Given the description of an element on the screen output the (x, y) to click on. 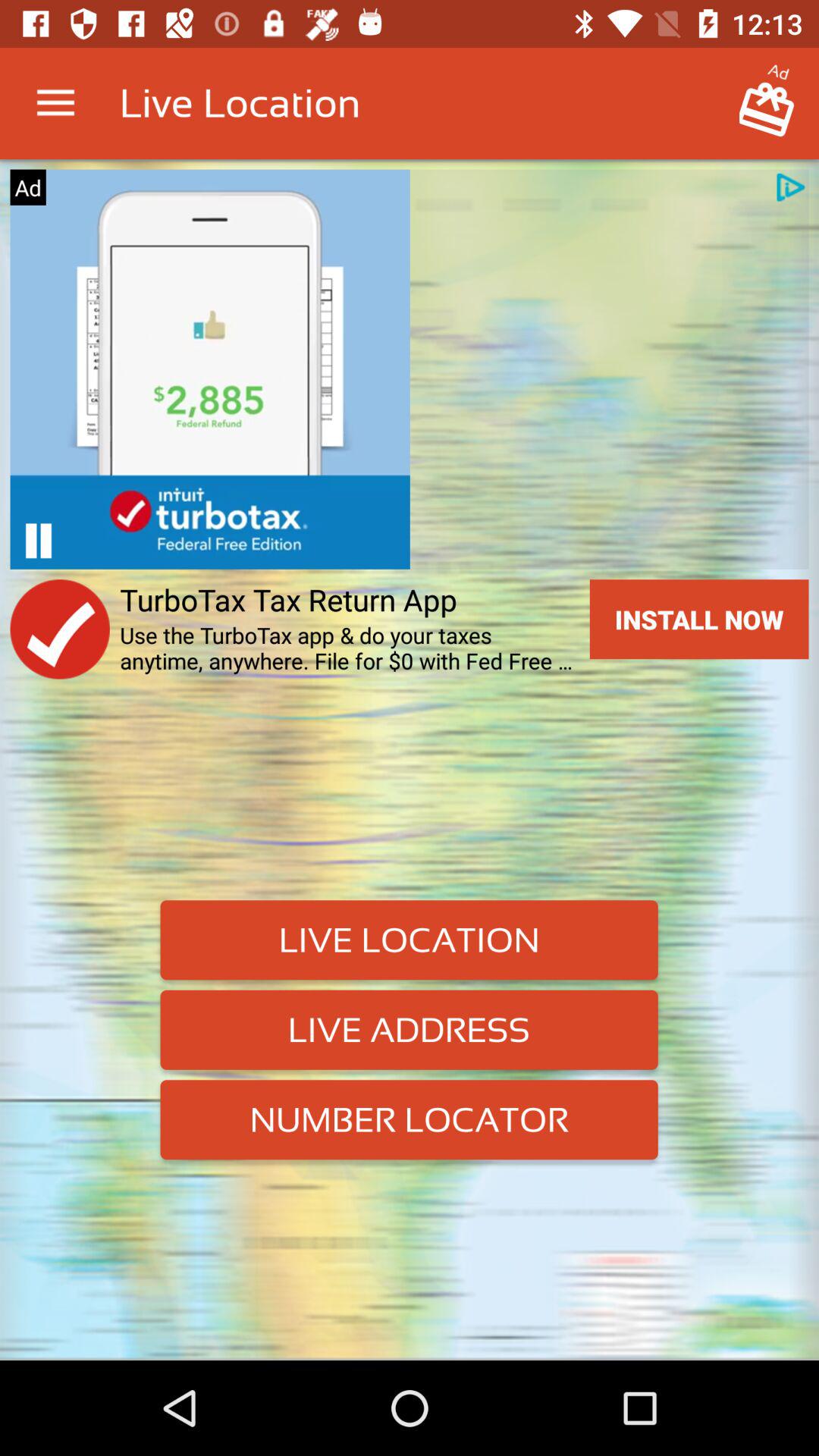
autoplay option (38, 540)
